Given the description of an element on the screen output the (x, y) to click on. 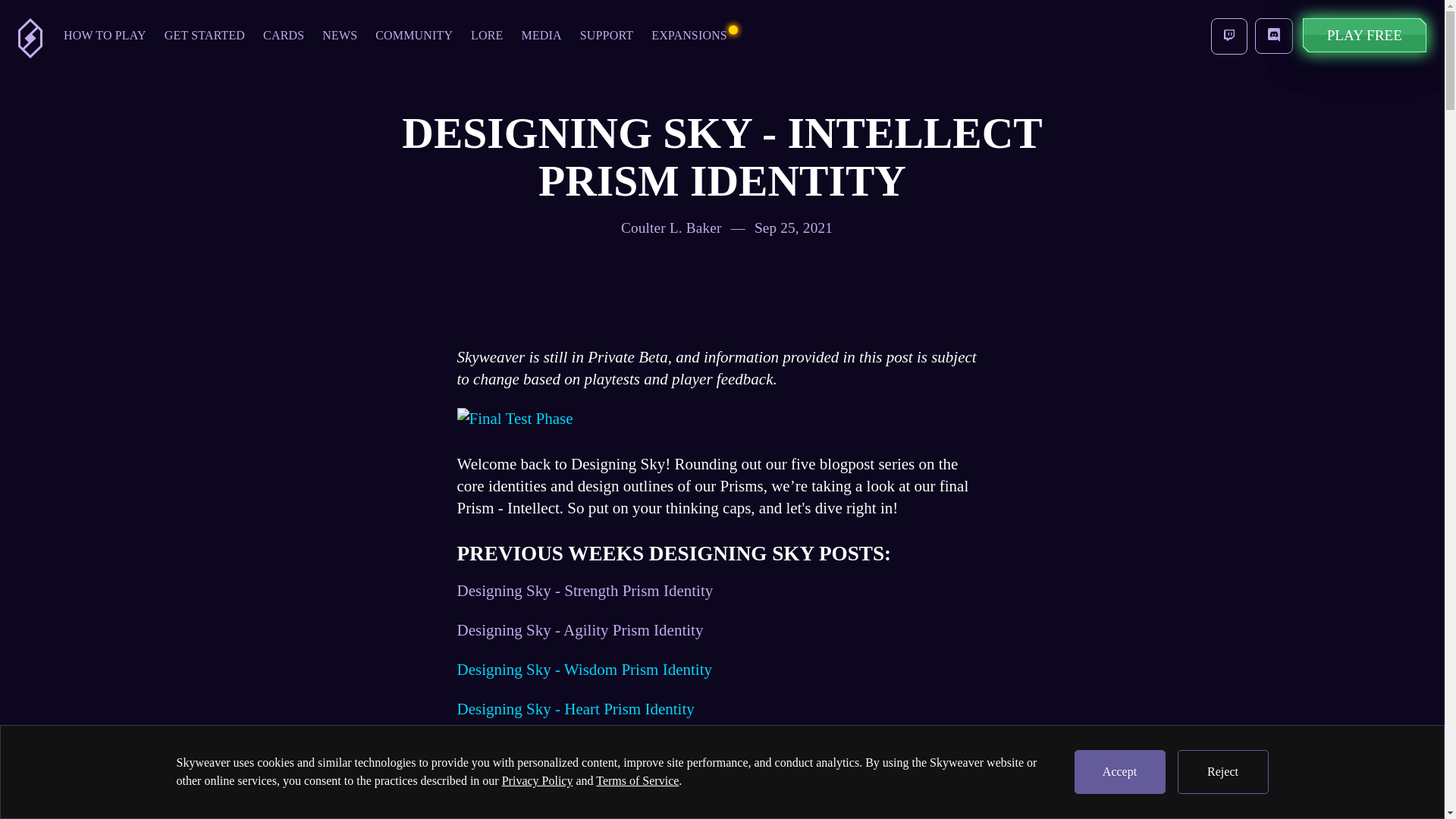
LORE (486, 37)
NEWS (339, 37)
SUPPORT (606, 37)
HOW TO PLAY (105, 37)
GET STARTED (204, 37)
EXPANSIONS (689, 37)
Coulter L. Baker (670, 228)
Designing Sky - Heart Prism Identity (575, 709)
CARDS (283, 37)
Designing Sky - Strength Prism Identity (585, 590)
MEDIA (541, 37)
Designing Sky - Agility Prism Identity (580, 629)
Designing Sky - Wisdom Prism Identity (584, 669)
PLAY FREE (1364, 35)
COMMUNITY (413, 37)
